Given the description of an element on the screen output the (x, y) to click on. 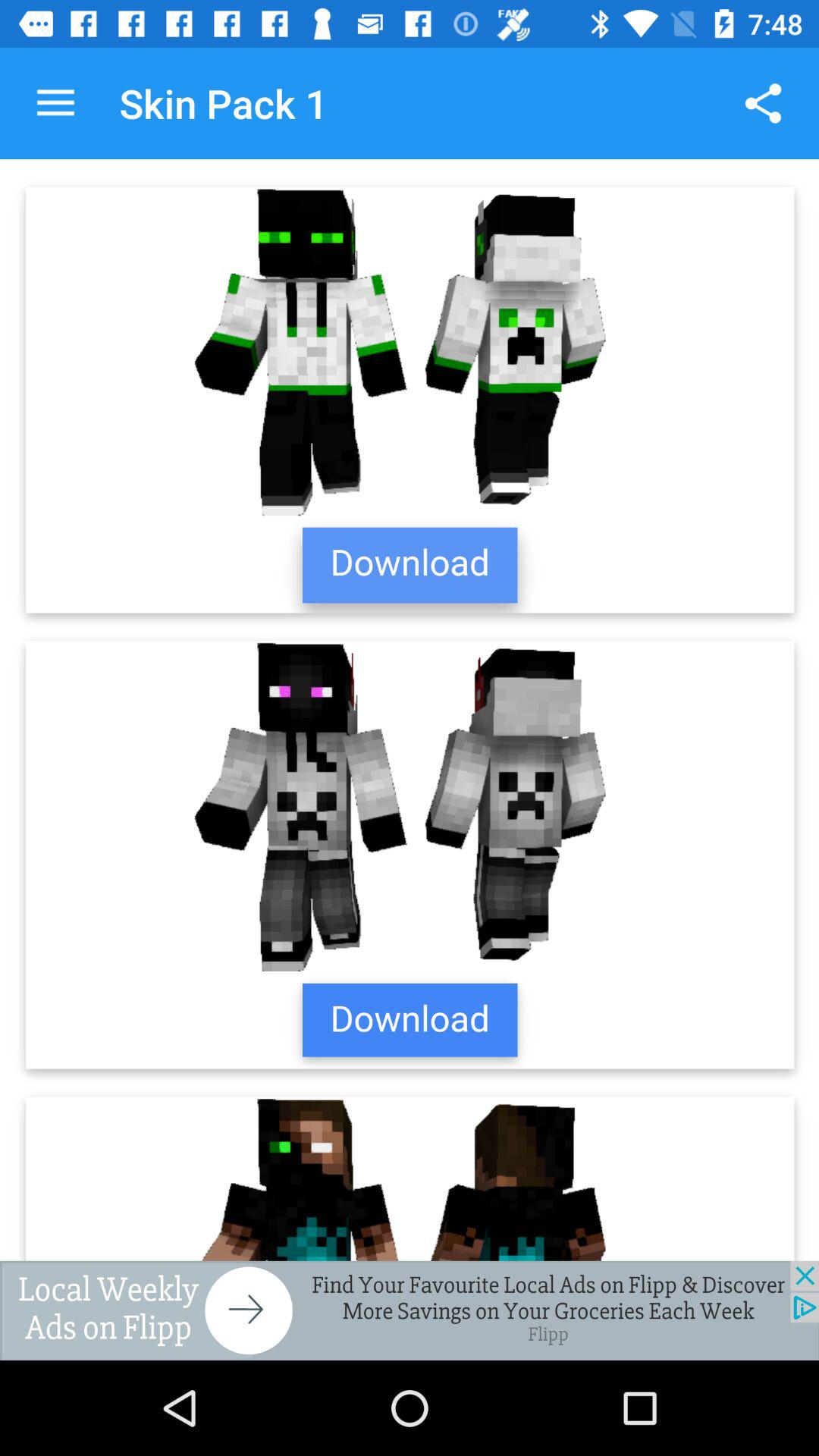
advertisement (409, 1310)
